Given the description of an element on the screen output the (x, y) to click on. 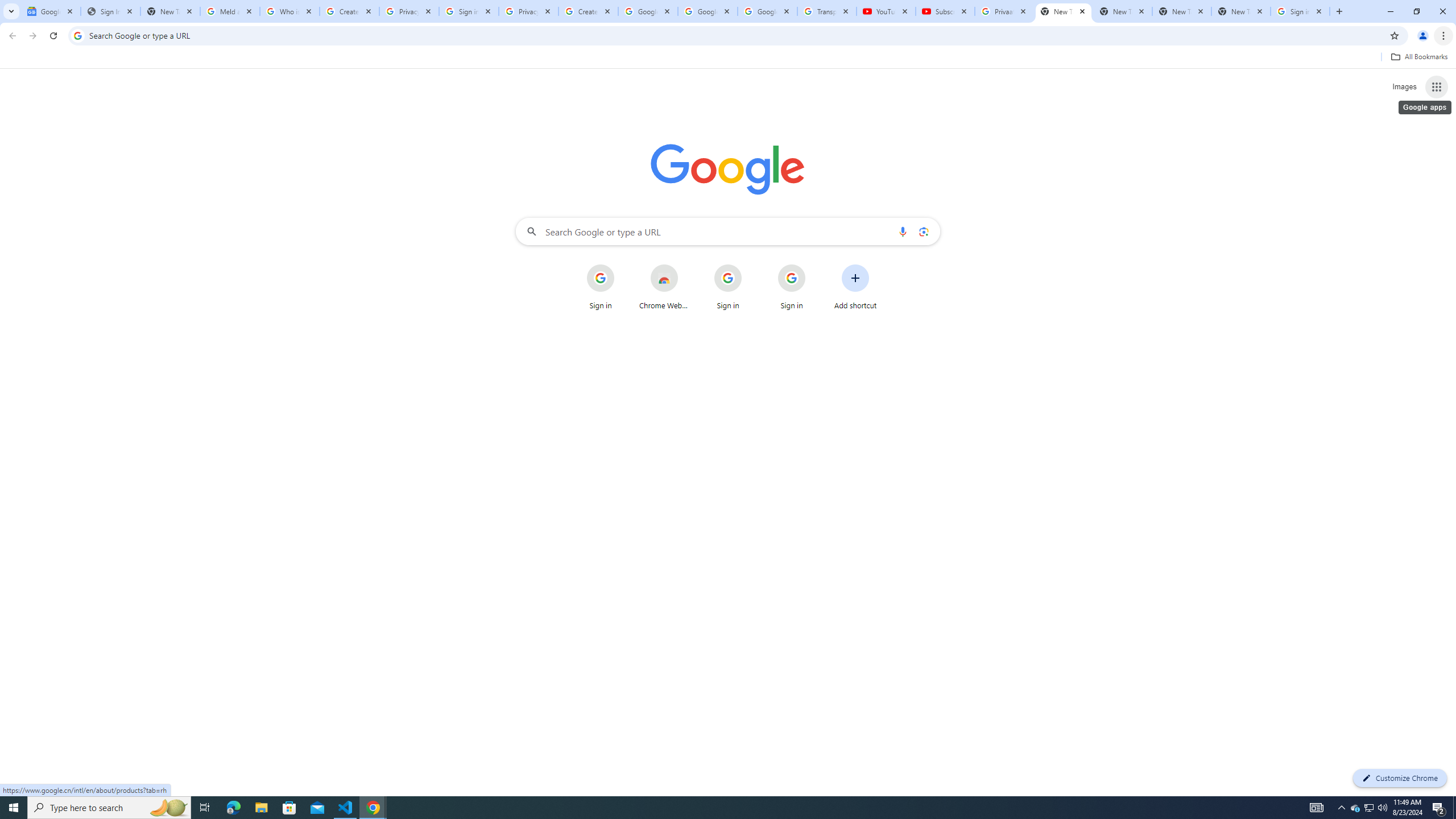
Chrome Web Store (663, 287)
Sign in - Google Accounts (468, 11)
Google Account (767, 11)
New Tab (1241, 11)
